Given the description of an element on the screen output the (x, y) to click on. 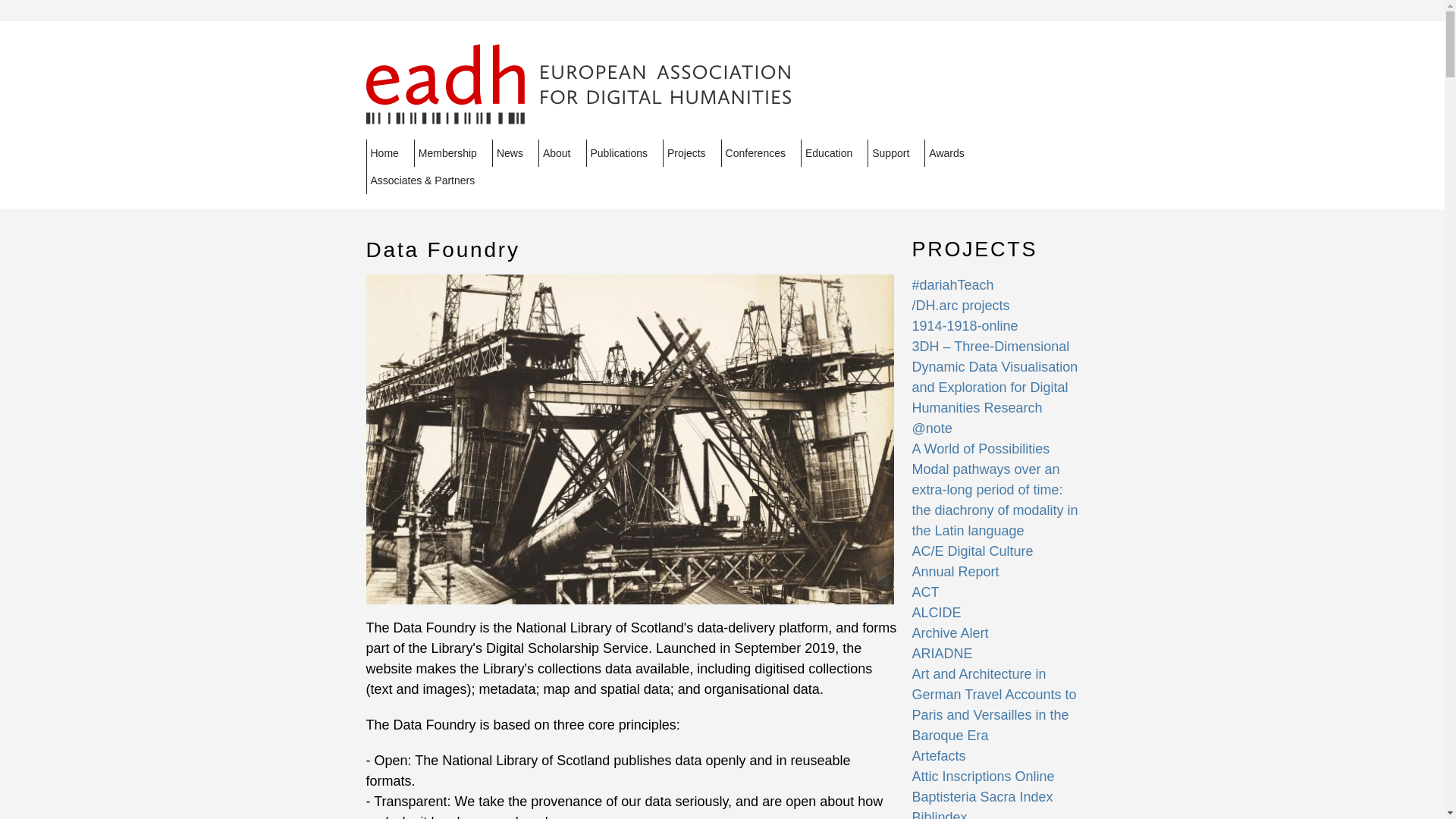
Conferences (760, 153)
Education (833, 153)
Biblindex (938, 814)
Baptisteria Sacra Index (981, 796)
Awards (951, 153)
Support (895, 153)
1914-1918-online (964, 325)
Awards (951, 153)
Membership (452, 153)
ACT (925, 591)
Artefacts (938, 755)
EADH - The European Association for Digital Humanities (577, 113)
Conferences (760, 153)
Archive Alert (949, 632)
